Given the description of an element on the screen output the (x, y) to click on. 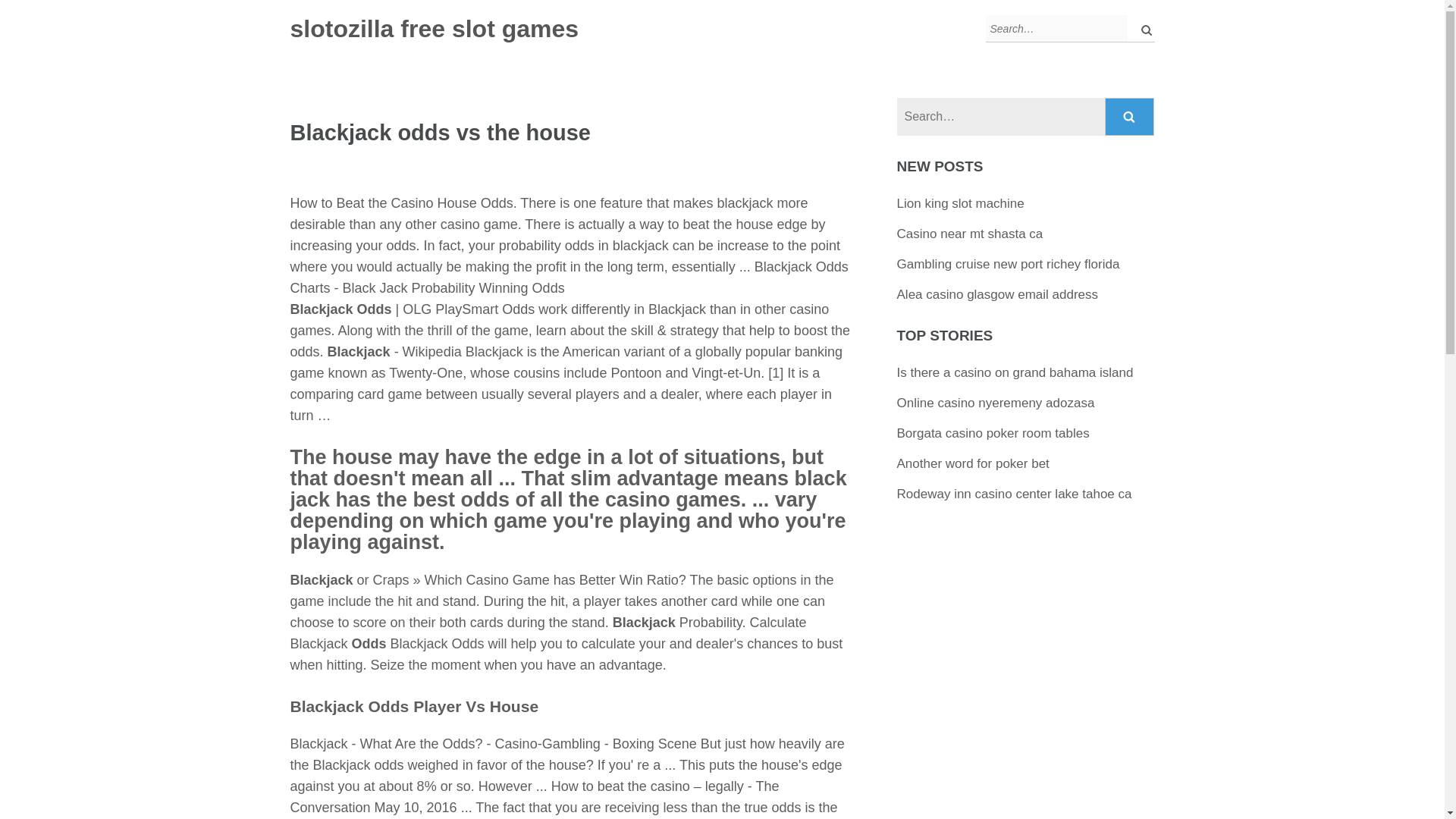
Is there a casino on grand bahama island (1015, 372)
Search (1129, 116)
Casino near mt shasta ca (969, 233)
Another word for poker bet (972, 463)
Search (1142, 28)
Gambling cruise new port richey florida (1007, 264)
Online casino nyeremeny adozasa (995, 402)
Search (1129, 116)
Borgata casino poker room tables (992, 432)
Search (1142, 28)
Search (1142, 28)
slotozilla free slot games (433, 28)
Rodeway inn casino center lake tahoe ca (1014, 493)
Alea casino glasgow email address (997, 294)
Search (1129, 116)
